Given the description of an element on the screen output the (x, y) to click on. 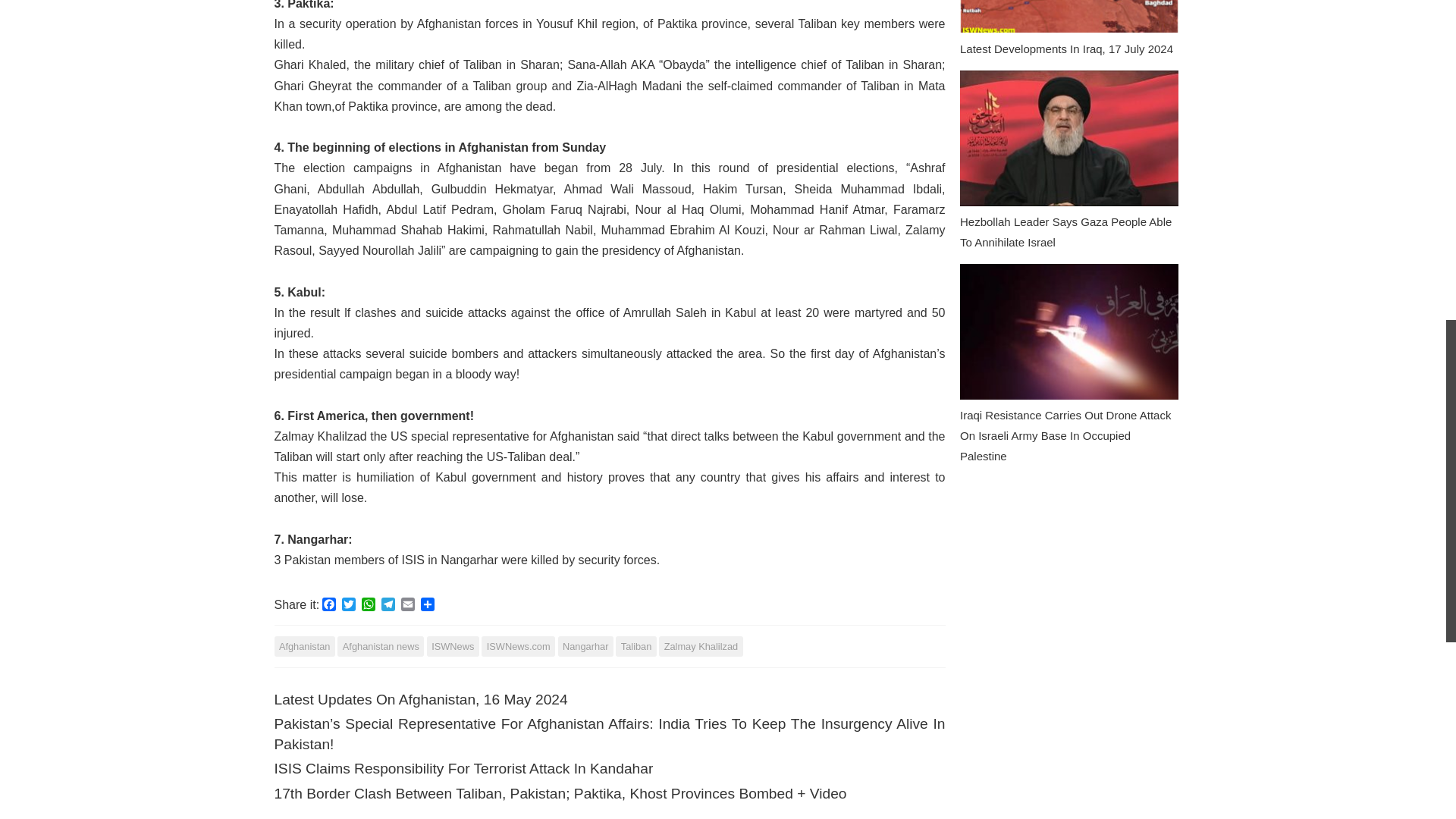
Email (407, 605)
WhatsApp (368, 605)
Facebook (328, 605)
Twitter (348, 605)
Telegram (387, 605)
